Given the description of an element on the screen output the (x, y) to click on. 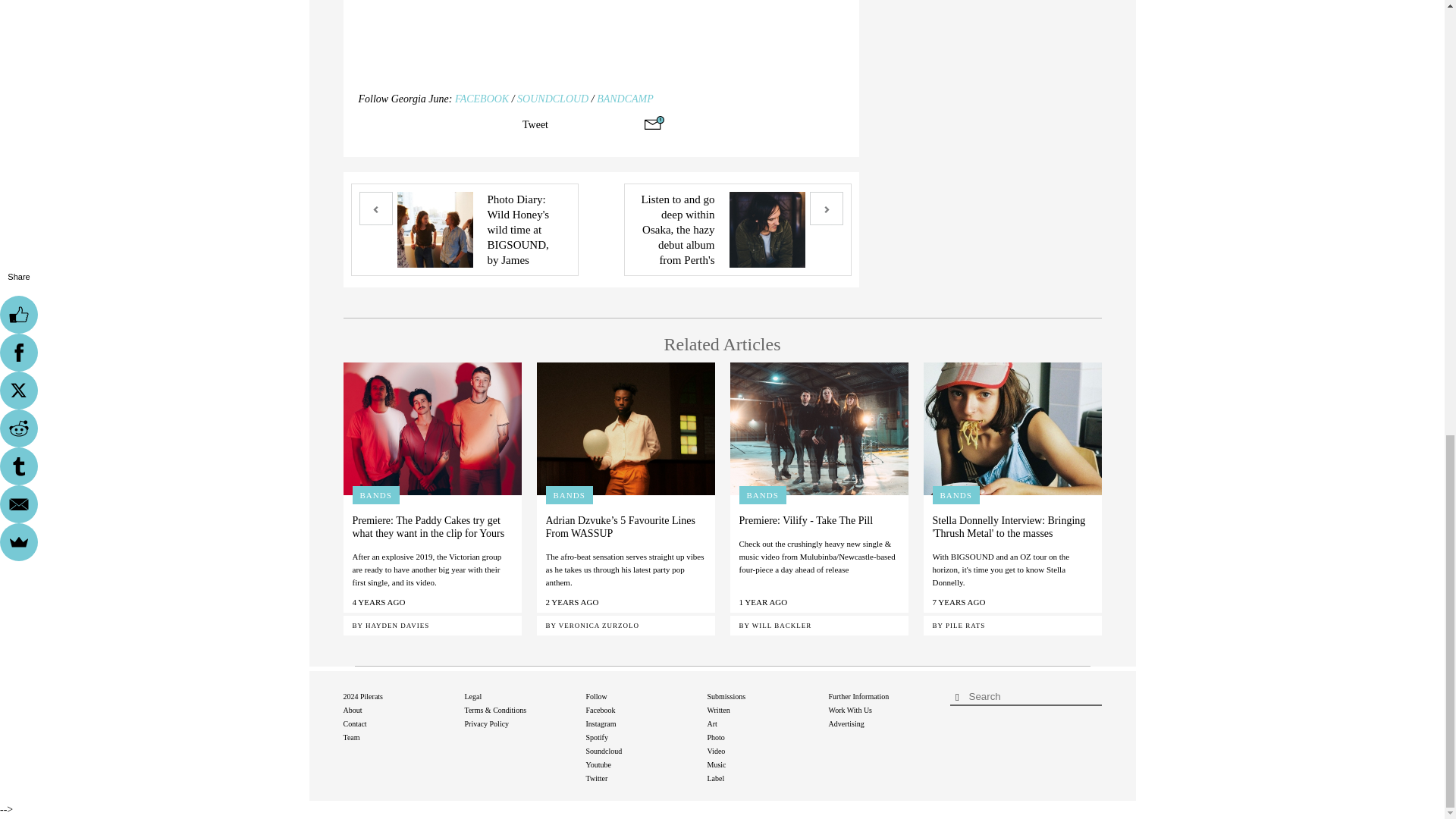
Share via email (654, 122)
